Given the description of an element on the screen output the (x, y) to click on. 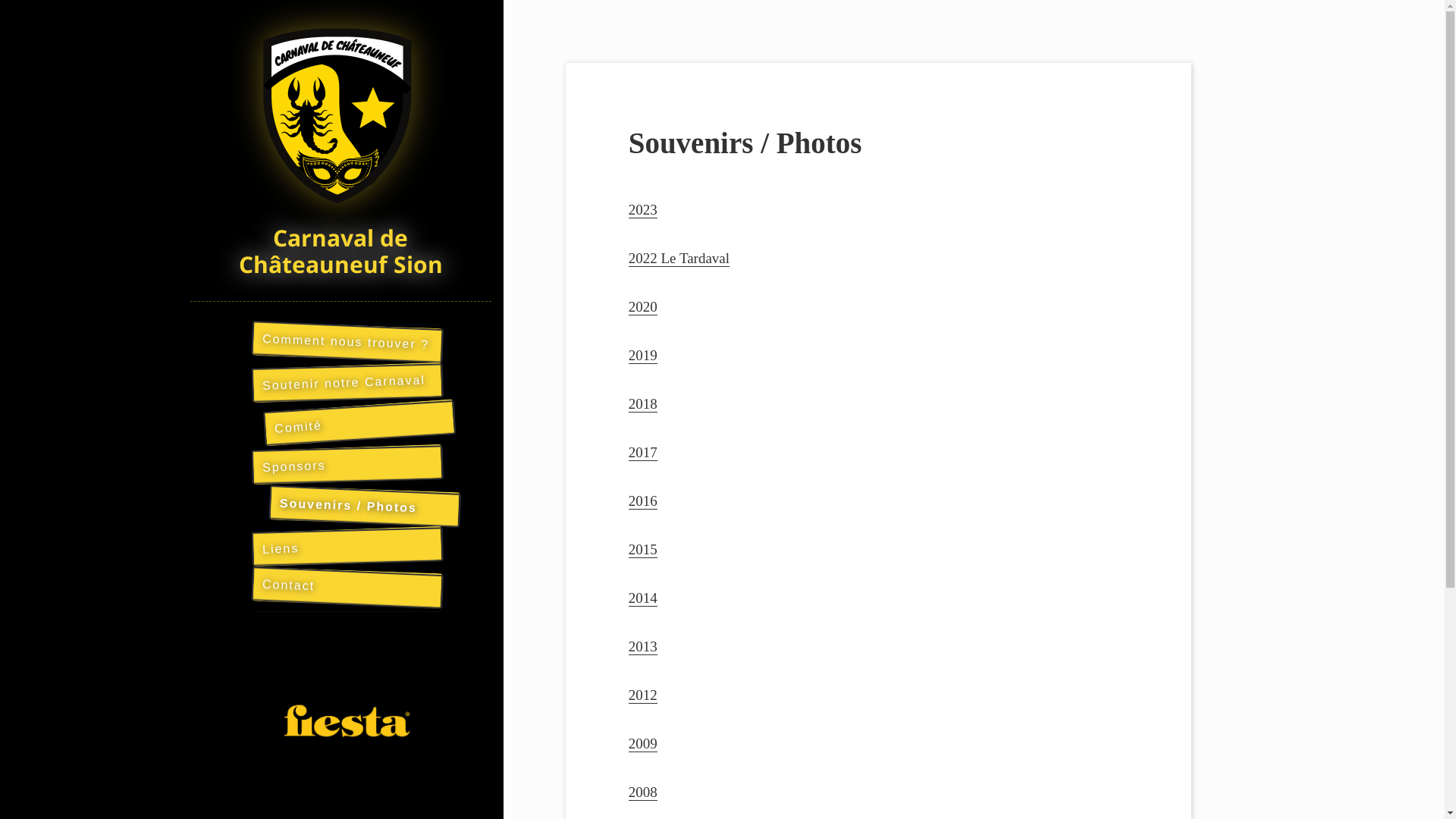
Sponsors Element type: text (346, 461)
2016 Element type: text (642, 500)
2014 Element type: text (642, 597)
Comment nous trouver ? Element type: text (346, 338)
2017 Element type: text (642, 452)
Contact Element type: text (346, 584)
2009 Element type: text (642, 743)
2018 Element type: text (642, 403)
Liens Element type: text (346, 543)
Soutenir notre Carnaval Element type: text (346, 379)
2013 Element type: text (642, 646)
2012 Element type: text (642, 695)
2022 Le Tardaval Element type: text (678, 258)
2015 Element type: text (642, 549)
Souvenirs / Photos Element type: text (363, 503)
2019 Element type: text (642, 355)
2023 Element type: text (642, 209)
2020 Element type: text (642, 306)
2008 Element type: text (642, 792)
